Given the description of an element on the screen output the (x, y) to click on. 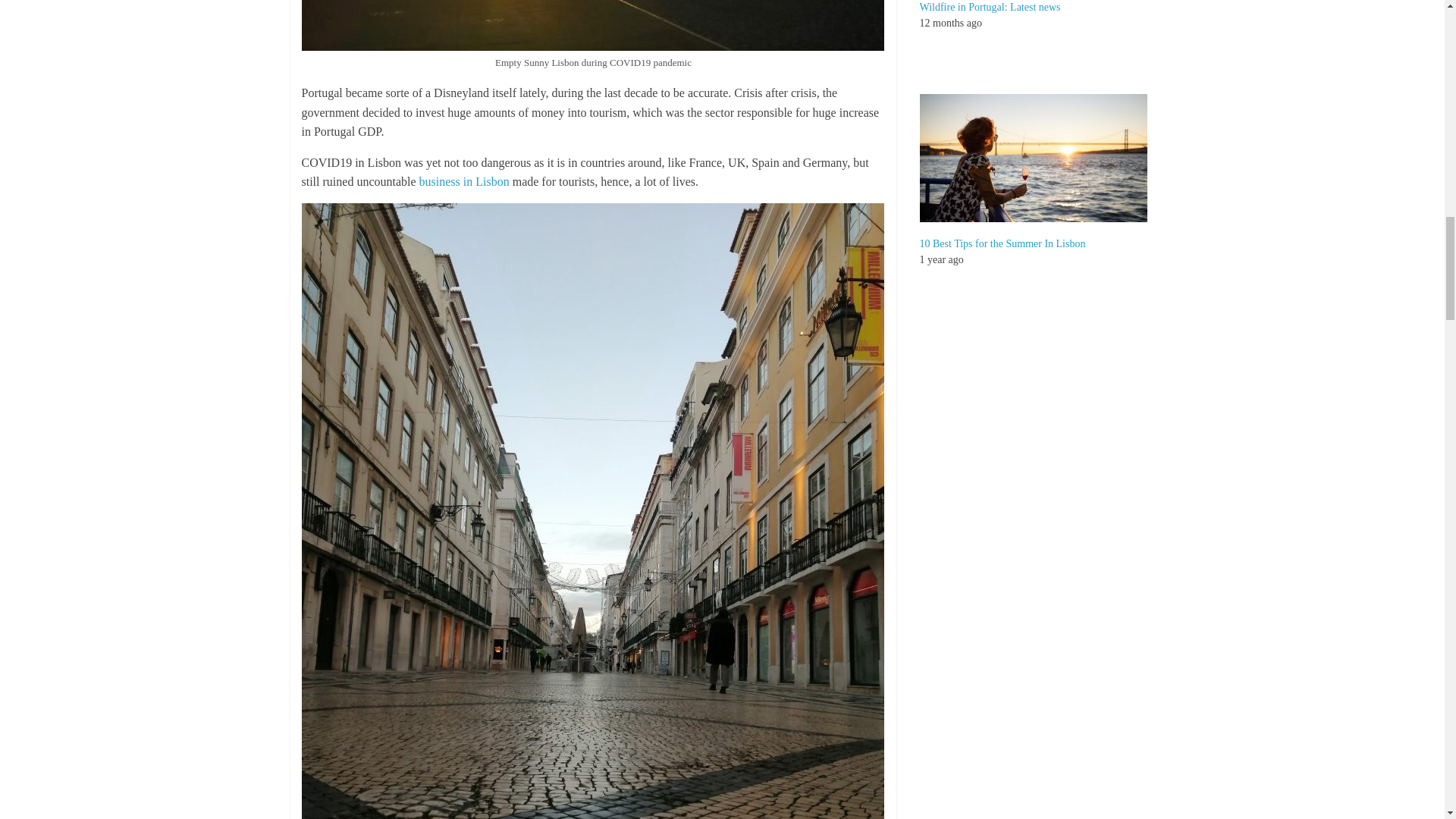
business in (447, 181)
Lisbon (492, 181)
